Given the description of an element on the screen output the (x, y) to click on. 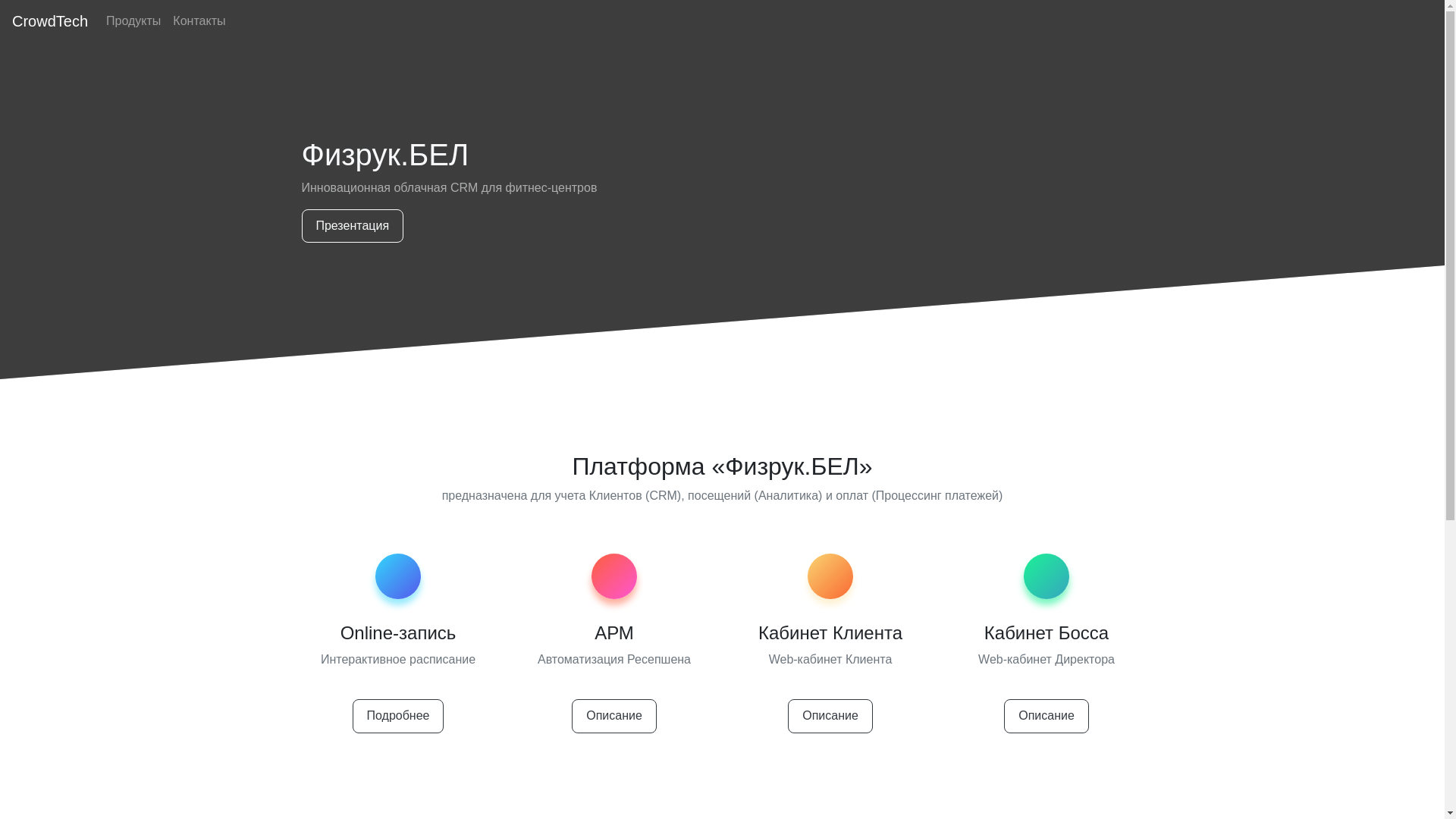
CrowdTech Element type: text (49, 21)
